Given the description of an element on the screen output the (x, y) to click on. 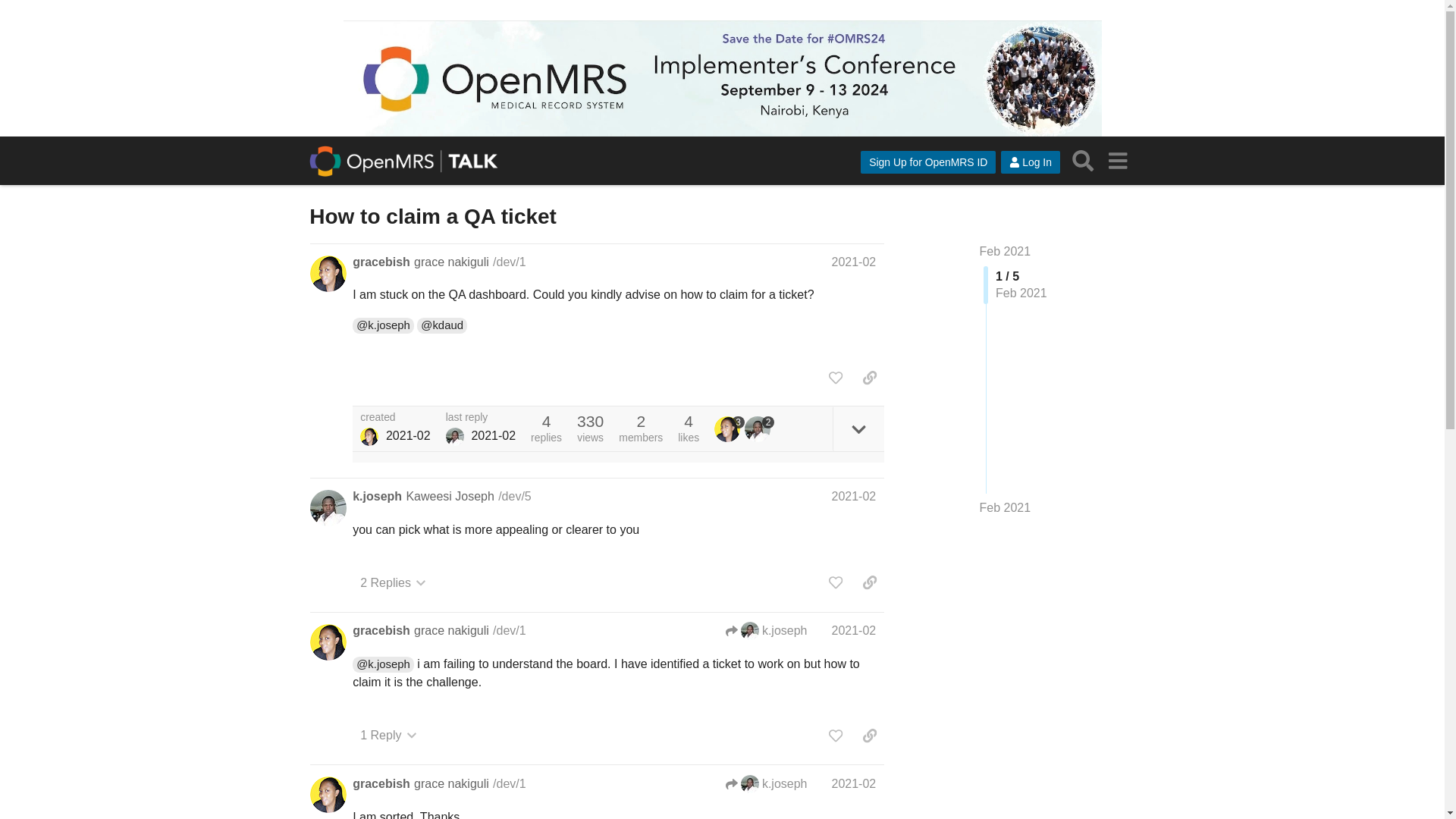
Kaweesi Joseph (454, 436)
grace nakiguli (451, 261)
last reply (480, 417)
Feb 2021 (1004, 507)
gracebish (381, 262)
share a link to this post (869, 377)
3 (729, 429)
2021-02-18 9:26 pm (492, 436)
gracebish (729, 429)
Kaweesi Joseph (450, 495)
Post date (853, 261)
Log In (1030, 161)
Jump to the first post (1004, 250)
2021-02-18 9:03 pm (407, 436)
Jump to the last post (1004, 507)
